Given the description of an element on the screen output the (x, y) to click on. 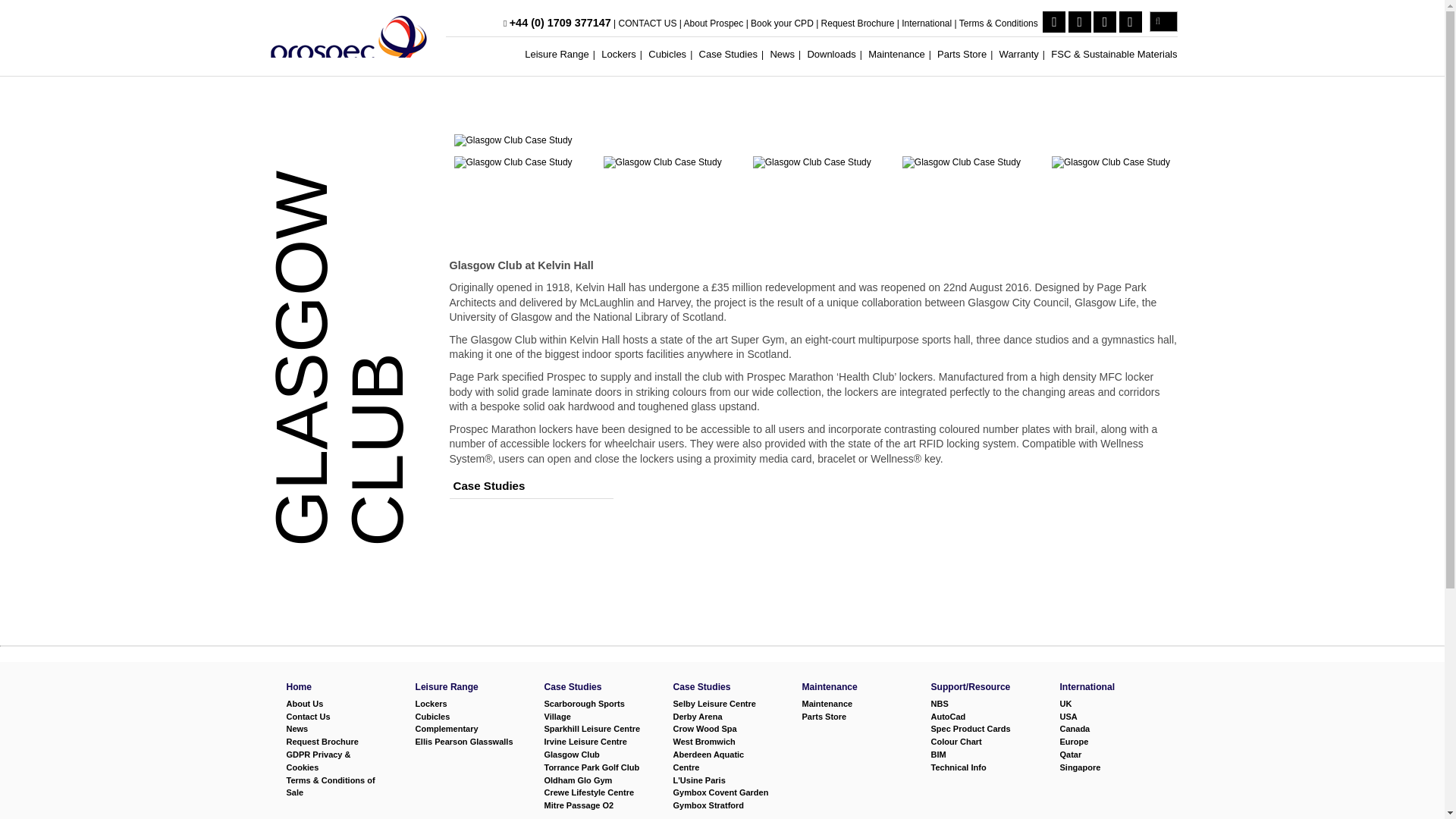
Cubicles (666, 53)
International (926, 23)
CONTACT US (647, 23)
Book your CPD (782, 23)
Leisure Range (556, 53)
Request Brochure (858, 23)
Case Studies (727, 53)
Lockers (618, 53)
About Prospec (714, 23)
